Given the description of an element on the screen output the (x, y) to click on. 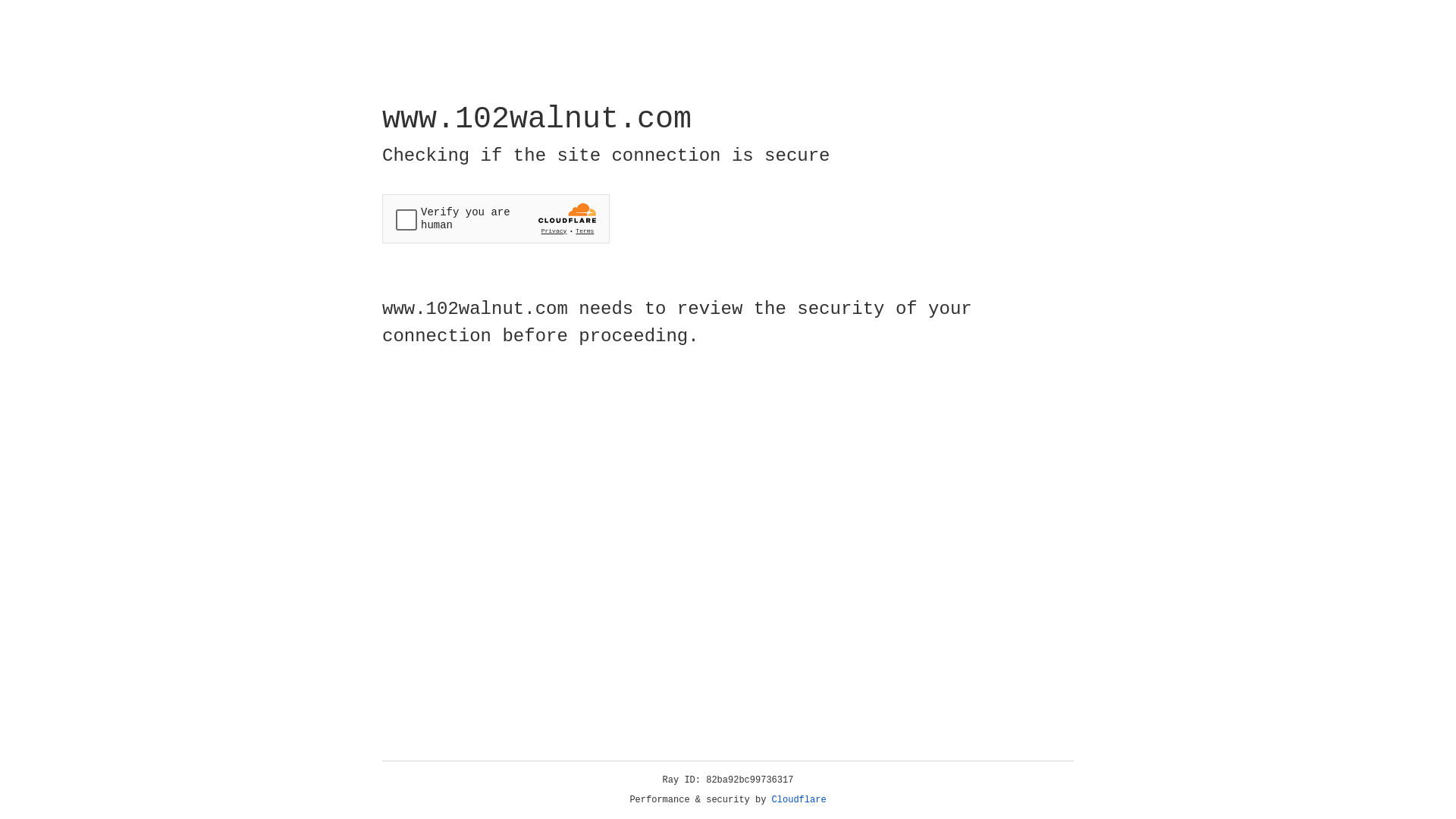
Widget containing a Cloudflare security challenge Element type: hover (495, 218)
Cloudflare Element type: text (798, 799)
